Given the description of an element on the screen output the (x, y) to click on. 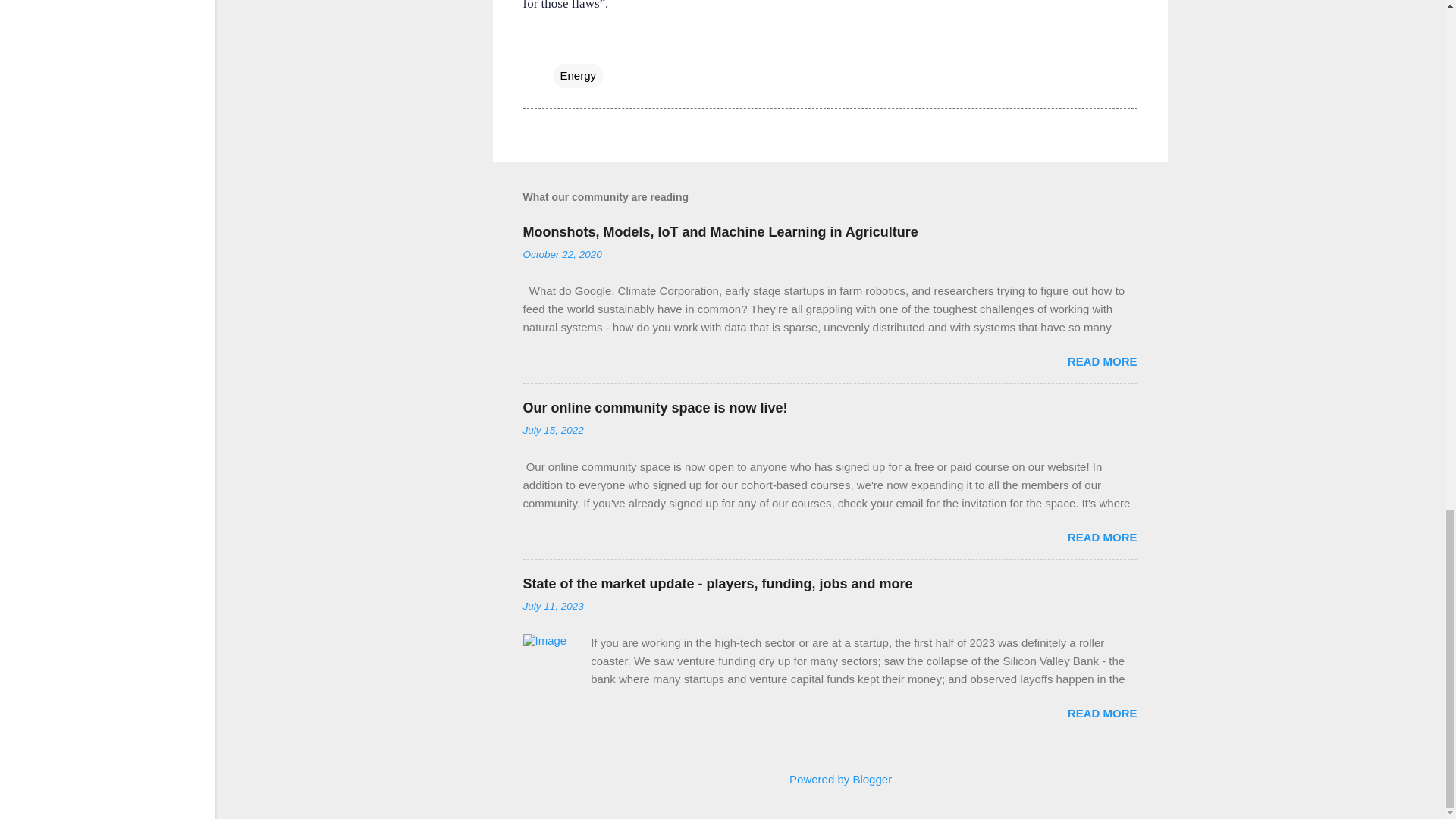
July 11, 2023 (552, 605)
Powered by Blogger (829, 779)
October 22, 2020 (562, 254)
July 15, 2022 (552, 430)
Moonshots, Models, IoT and Machine Learning in Agriculture (720, 231)
READ MORE (1102, 536)
READ MORE (1102, 360)
Energy (578, 75)
permanent link (562, 254)
State of the market update - players, funding, jobs and more (717, 583)
READ MORE (1102, 712)
Our online community space is now live! (654, 407)
